Given the description of an element on the screen output the (x, y) to click on. 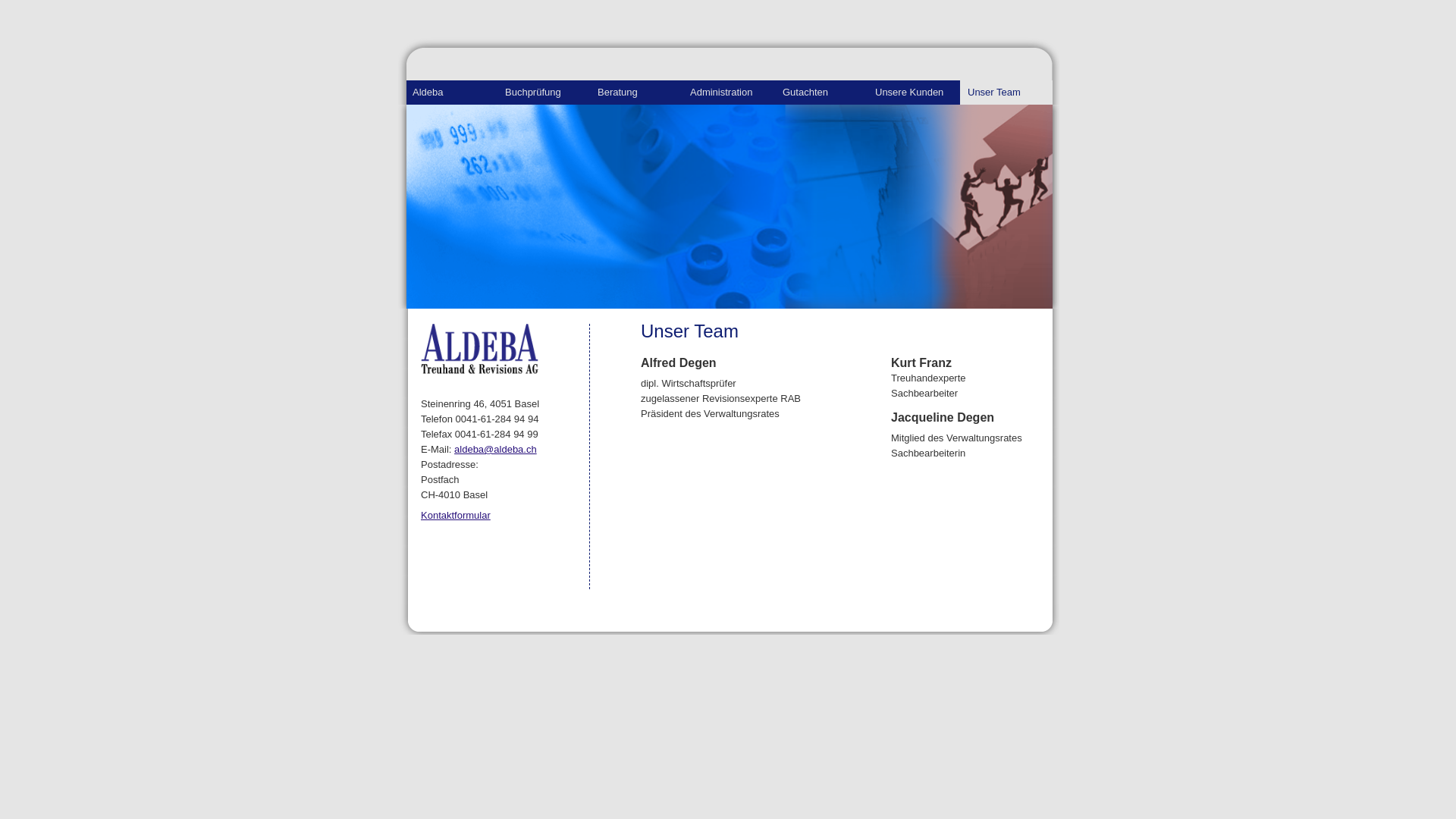
Kontaktformular Element type: text (455, 514)
Administration Element type: text (728, 92)
Gutachten Element type: text (821, 92)
aldeba@aldeba.ch Element type: text (495, 449)
Unser Team Element type: text (1006, 92)
Unsere Kunden Element type: text (913, 92)
Beratung Element type: text (635, 92)
Aldeba Element type: text (451, 92)
